Given the description of an element on the screen output the (x, y) to click on. 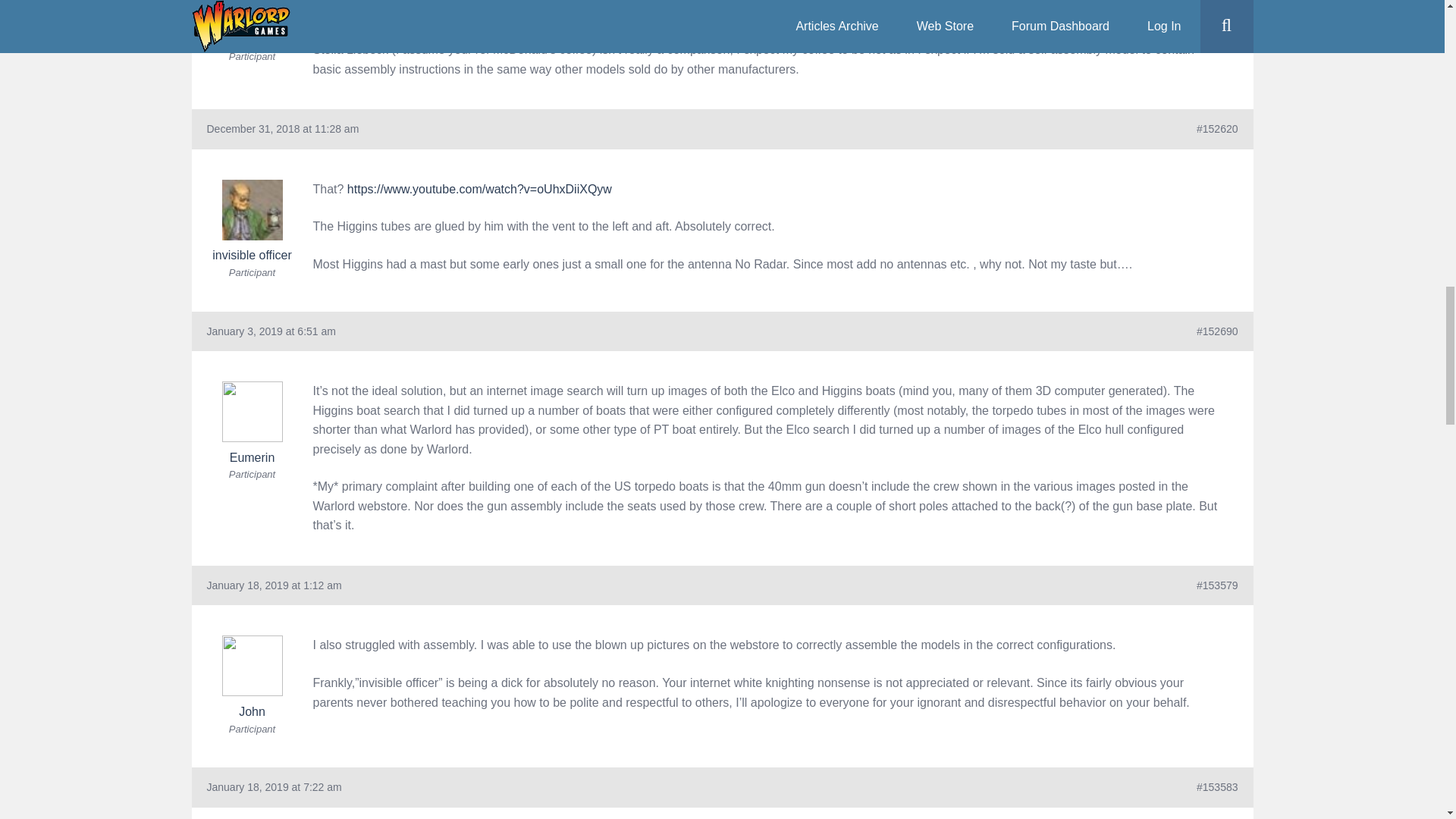
View Eumerin's profile (251, 422)
View invisible officer's profile (251, 220)
View Peter's profile (251, 22)
View John's profile (251, 676)
